Given the description of an element on the screen output the (x, y) to click on. 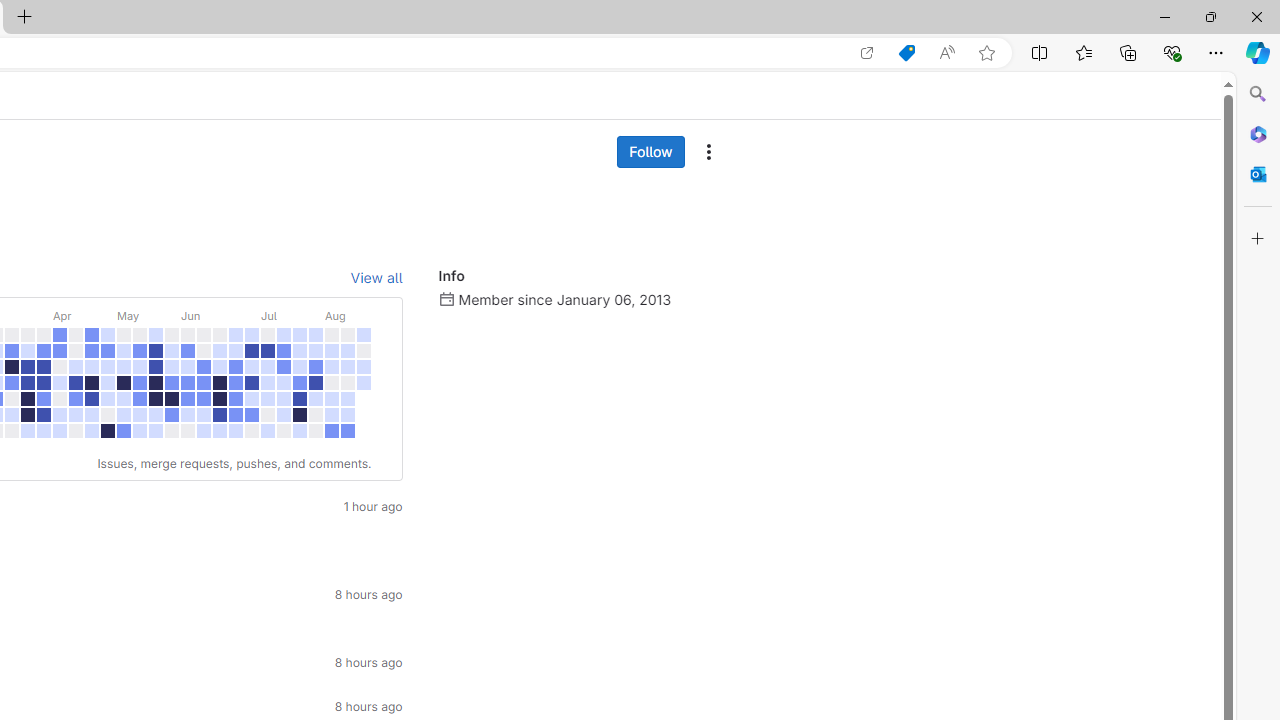
AutomationID: dropdown-toggle-btn-33 (708, 151)
